Given the description of an element on the screen output the (x, y) to click on. 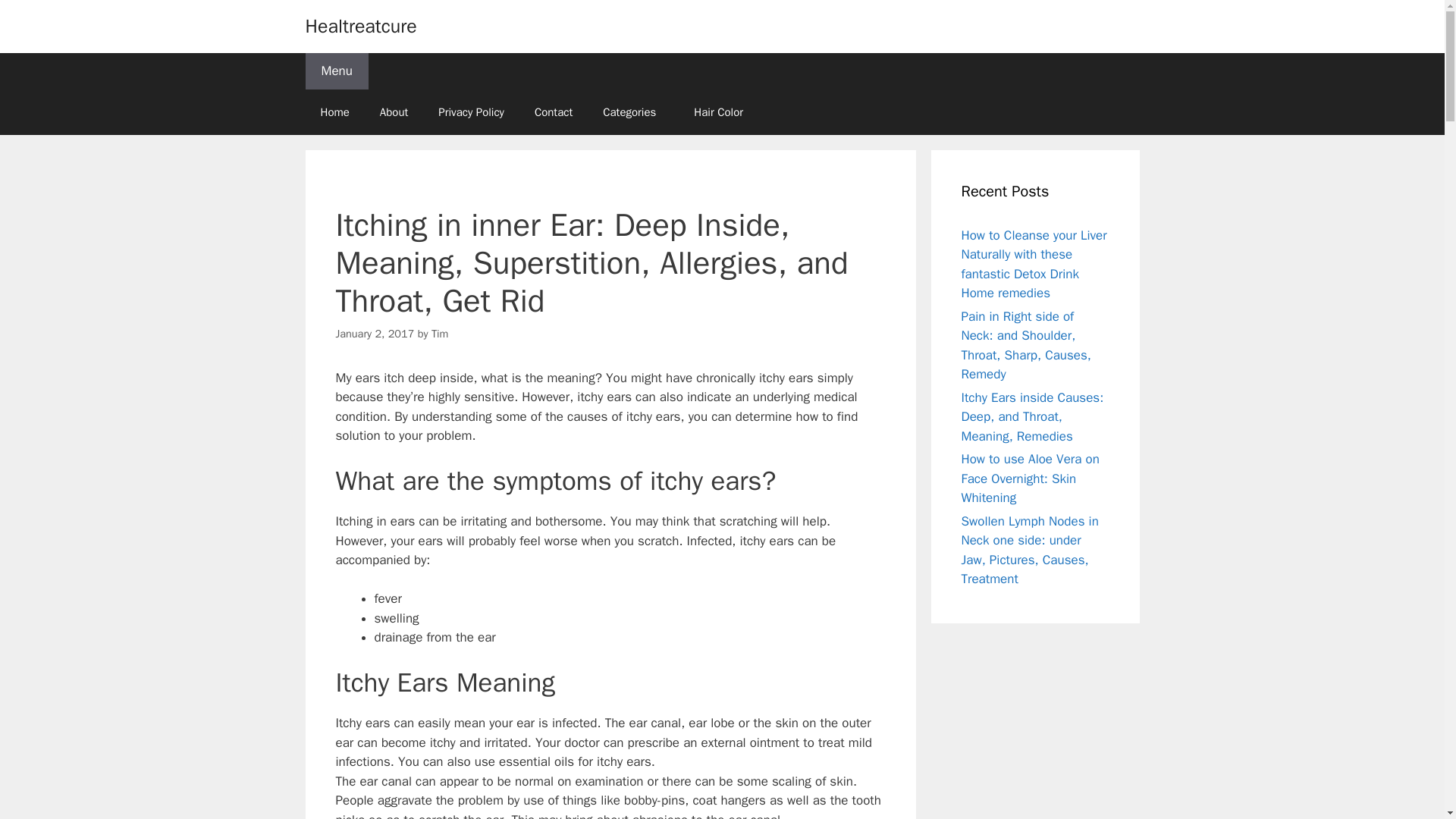
Menu (336, 71)
Contact (553, 112)
Categories (633, 112)
View all posts by Tim (439, 333)
About (394, 112)
Healtreatcure (360, 25)
Home (334, 112)
Privacy Policy (471, 112)
